Given the description of an element on the screen output the (x, y) to click on. 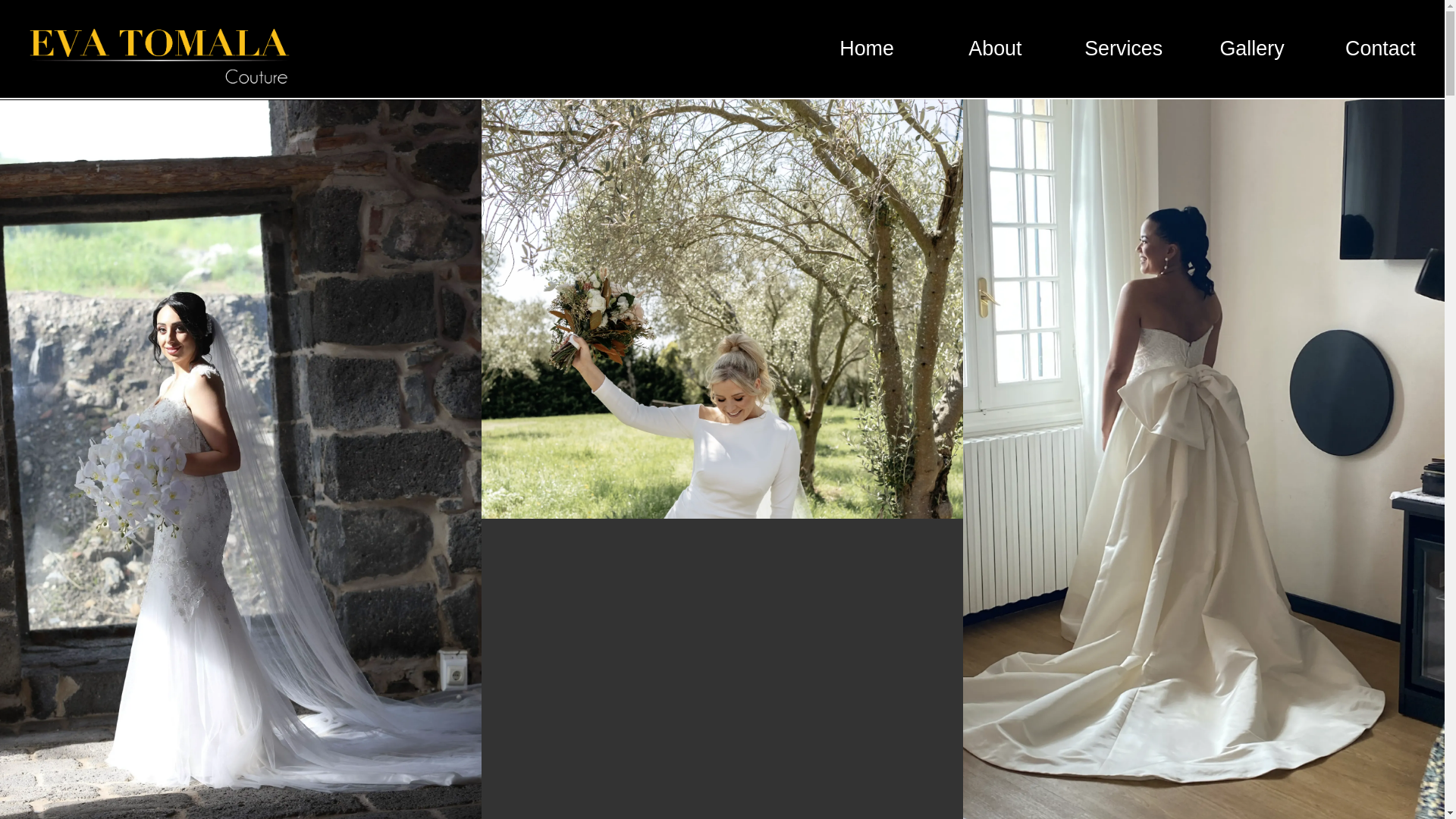
Gallery Element type: text (1251, 48)
Contact Element type: text (1380, 48)
Services Element type: text (1123, 48)
Home Element type: text (866, 48)
About Element type: text (995, 48)
